Given the description of an element on the screen output the (x, y) to click on. 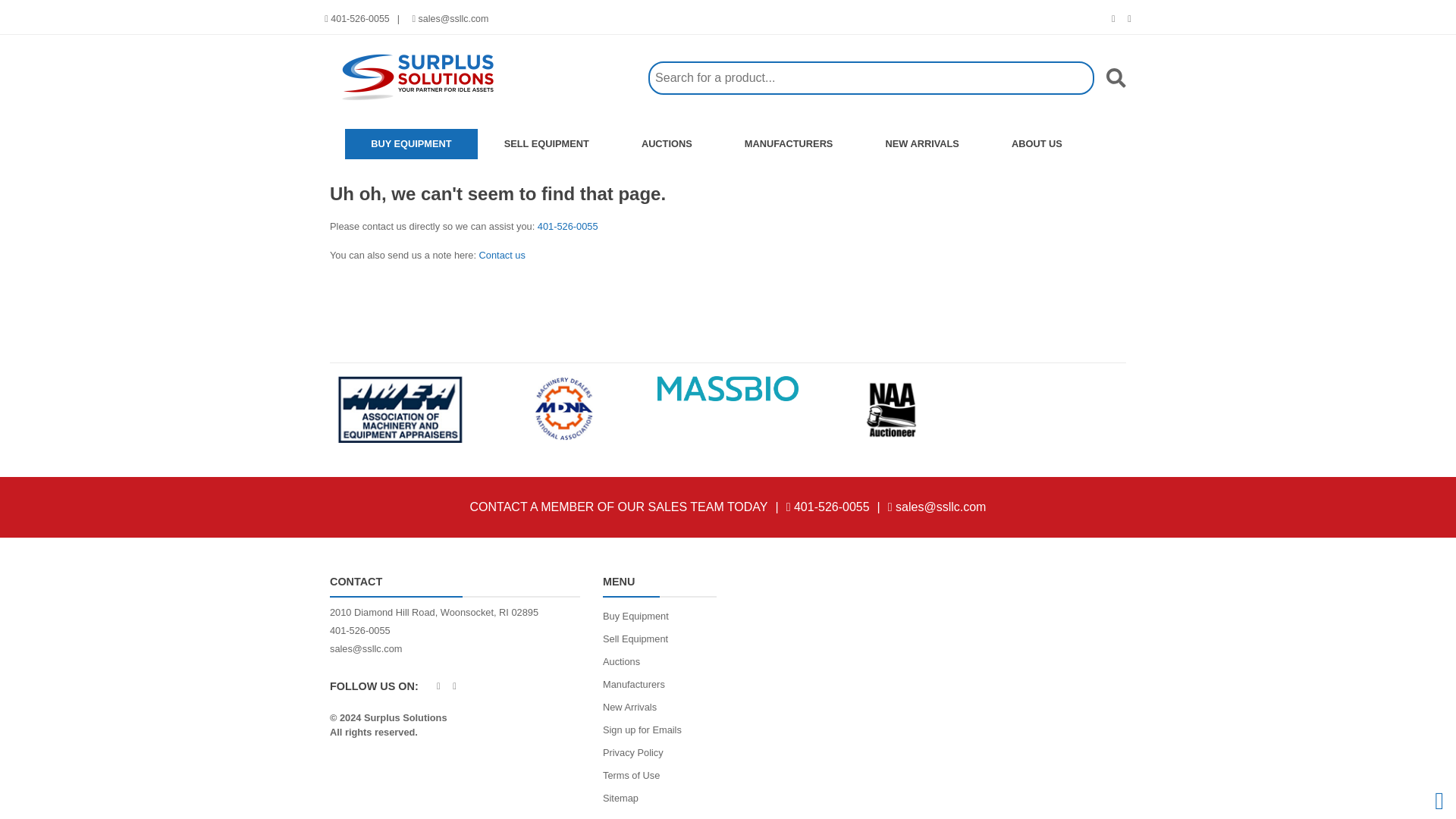
BUY EQUIPMENT (412, 143)
